Given the description of an element on the screen output the (x, y) to click on. 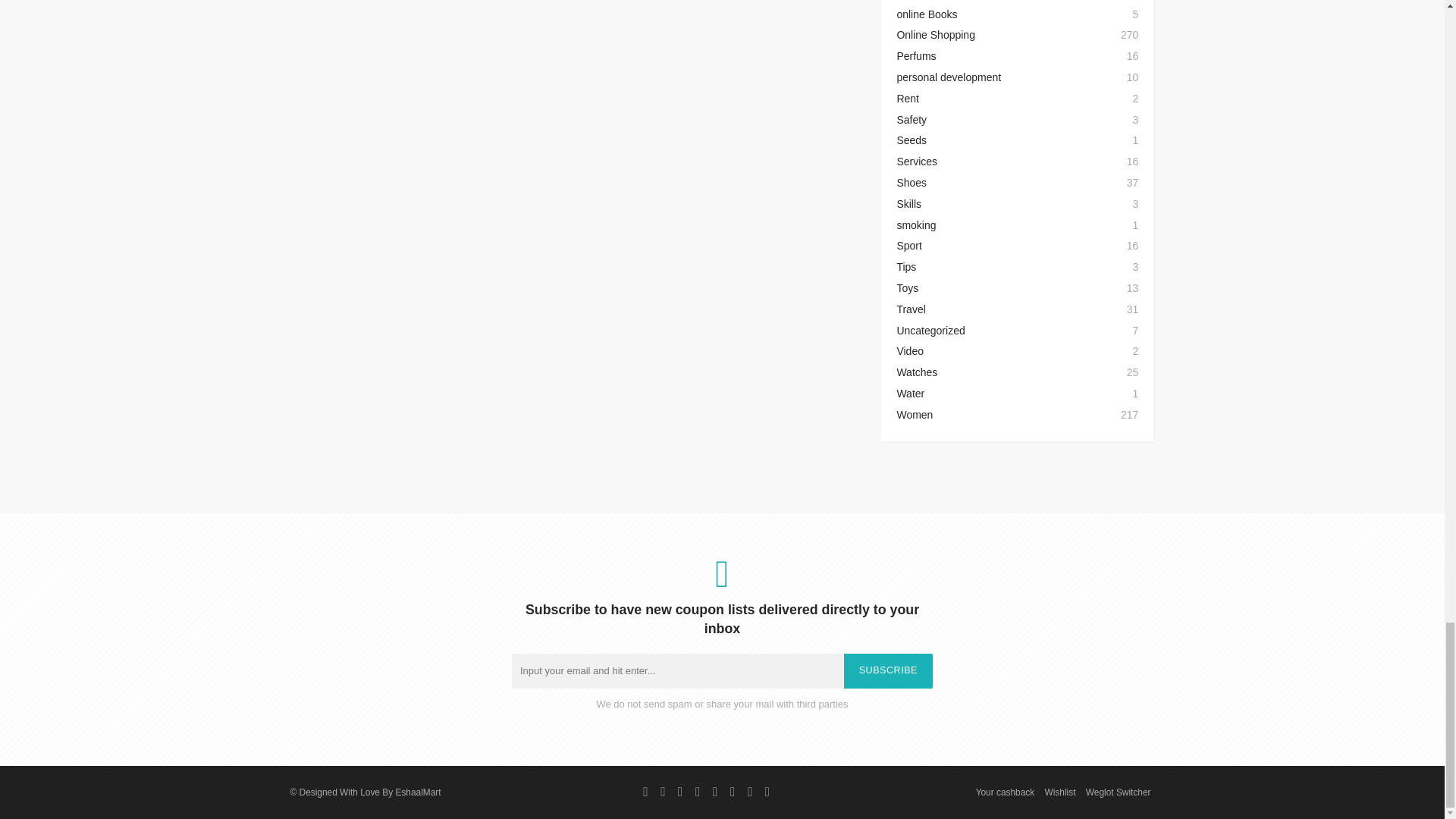
Your cashback (1005, 792)
Weglot Switcher (1118, 792)
Wishlist (1060, 792)
